Given the description of an element on the screen output the (x, y) to click on. 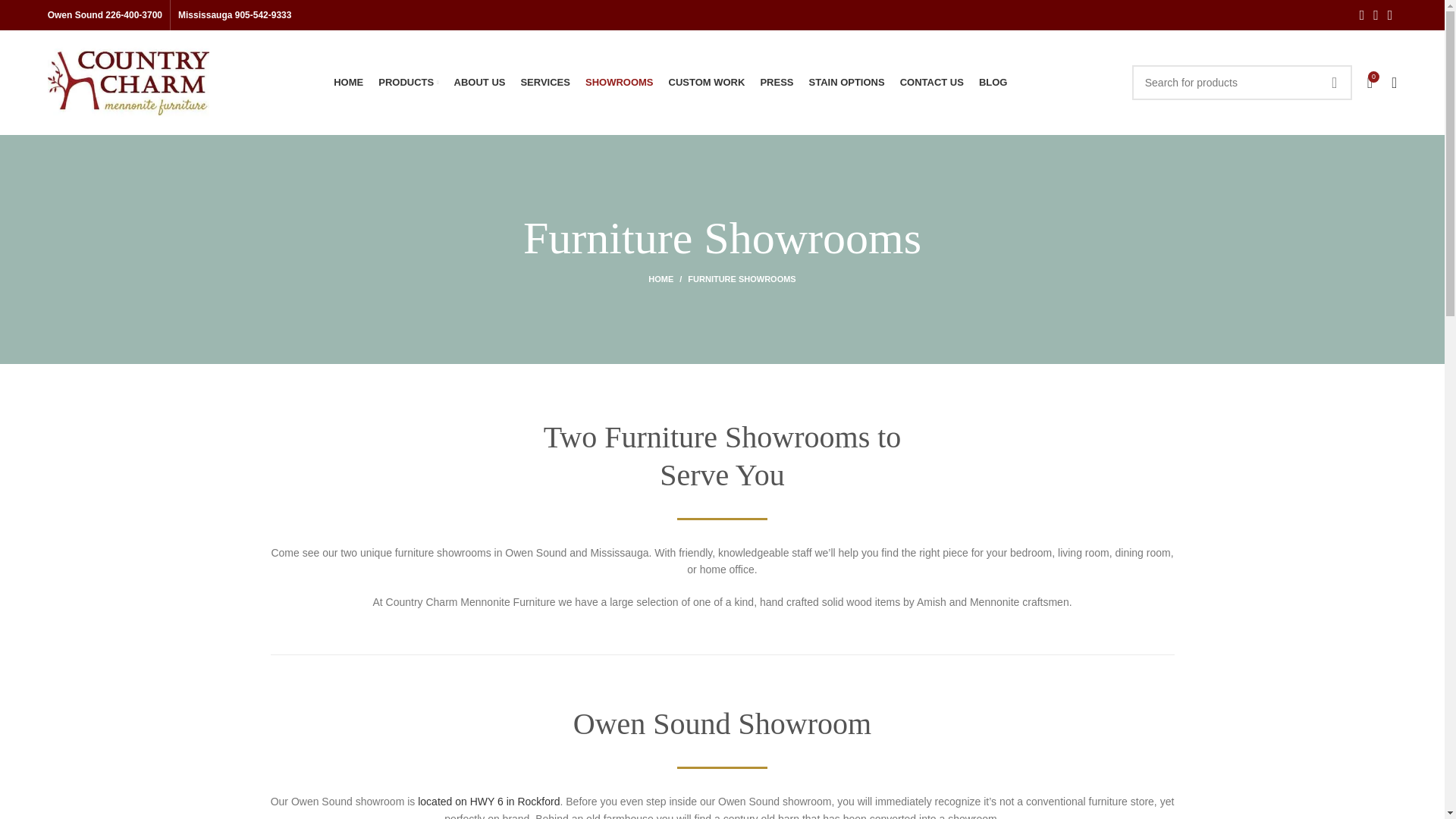
SHOWROOMS (619, 82)
SERVICES (544, 82)
SEARCH (1334, 82)
Log in (1271, 323)
STAIN OPTIONS (845, 82)
Search for products (1242, 82)
226-400-3700 (132, 14)
PRESS (776, 82)
ABOUT US (479, 82)
CONTACT US (931, 82)
905-542-9333 (263, 14)
BLOG (992, 82)
HOME (347, 82)
PRODUCTS (408, 82)
